Given the description of an element on the screen output the (x, y) to click on. 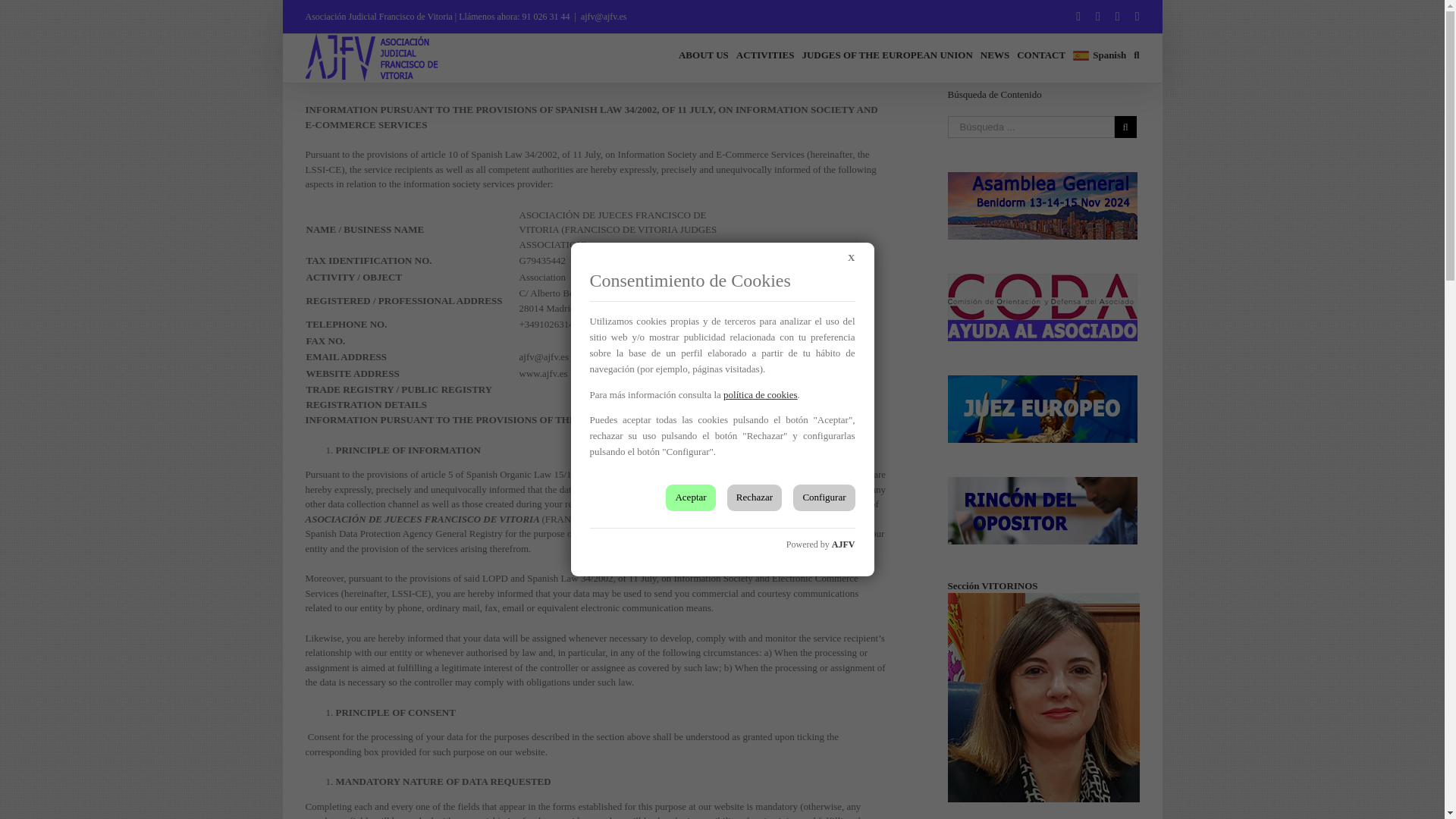
Youtube (1117, 16)
NEWS (994, 54)
Ayuda al asociado (1042, 306)
ACTIVITIES (765, 54)
ABOUT US (703, 54)
Estatuto de Juez Europeo (1042, 408)
Facebook (1077, 16)
JUDGES OF THE EUROPEAN UNION (887, 54)
Vitorinos: JUDITH SAIZ SORIA (1043, 697)
Spanish (1099, 54)
Instagram (1137, 16)
Asamblea AJFV 2024 (1042, 205)
Twitter (1098, 16)
CONTACT (1040, 54)
